Given the description of an element on the screen output the (x, y) to click on. 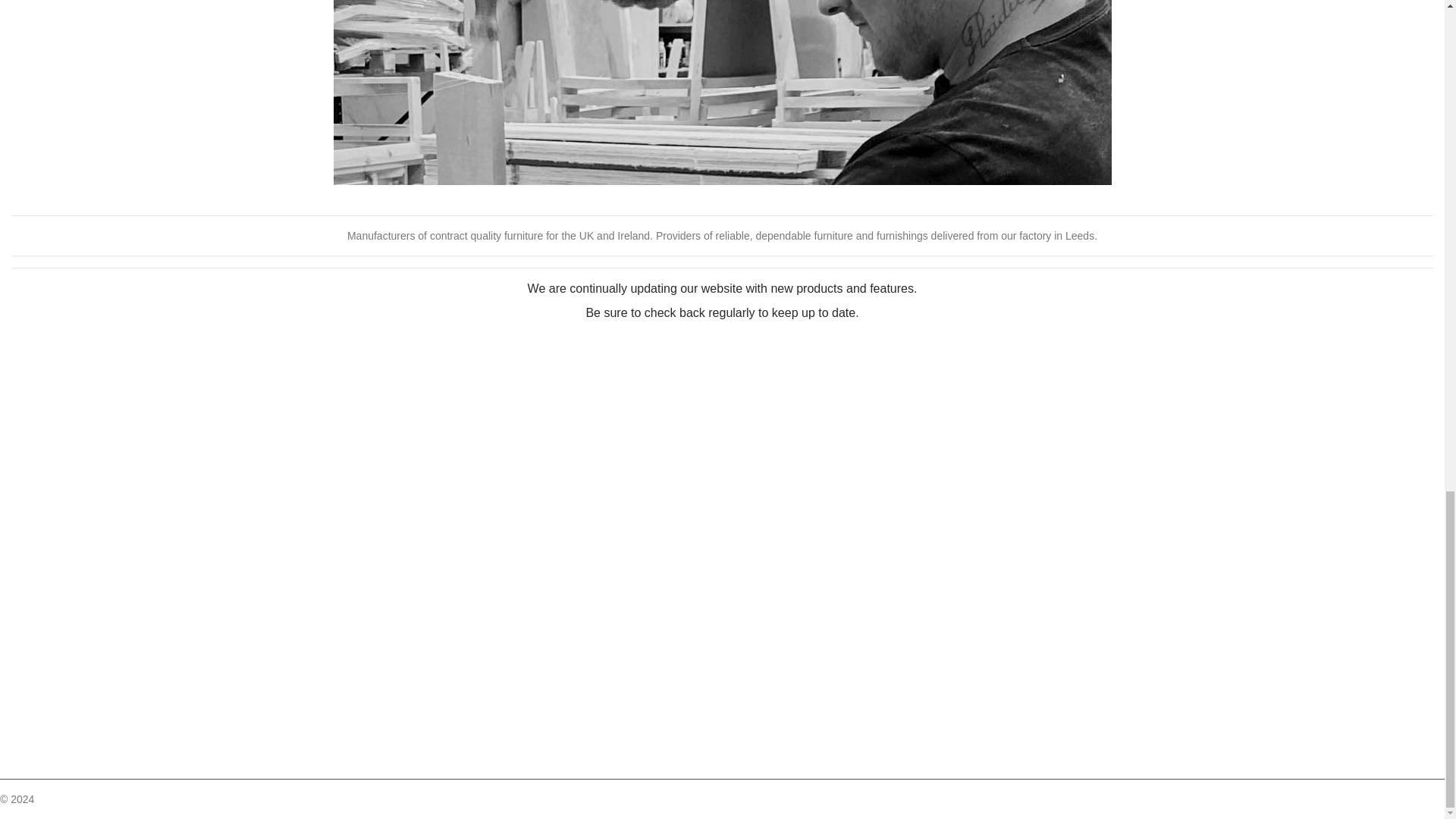
Contract Furniture Solutions (180, 799)
